Given the description of an element on the screen output the (x, y) to click on. 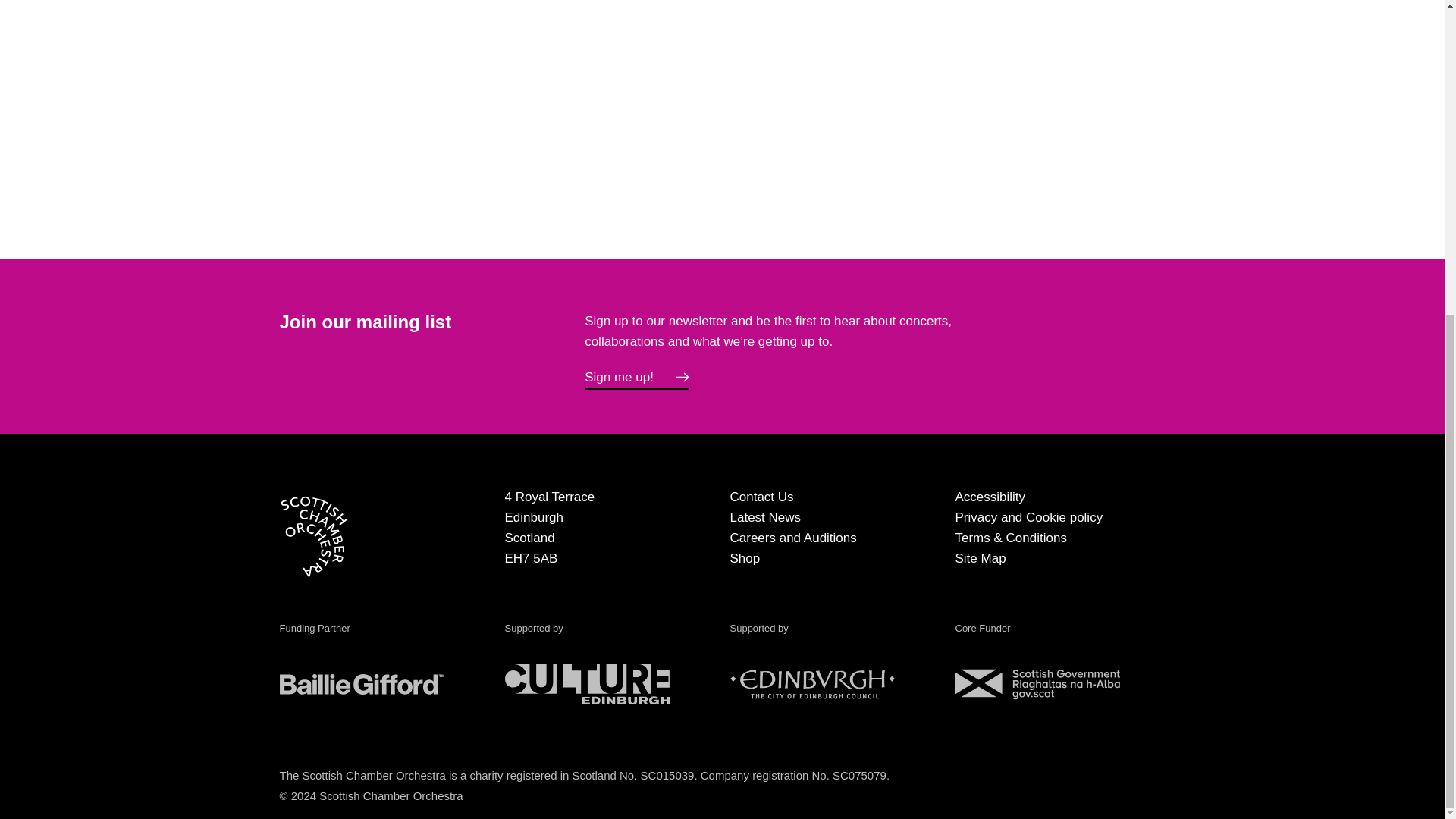
Contact Us (761, 496)
Accessibility (990, 496)
Site Map (980, 558)
Shop (744, 558)
Sign me up! (636, 377)
Privacy and Cookie policy (1029, 517)
Careers and Auditions (792, 537)
Latest News (764, 517)
